Given the description of an element on the screen output the (x, y) to click on. 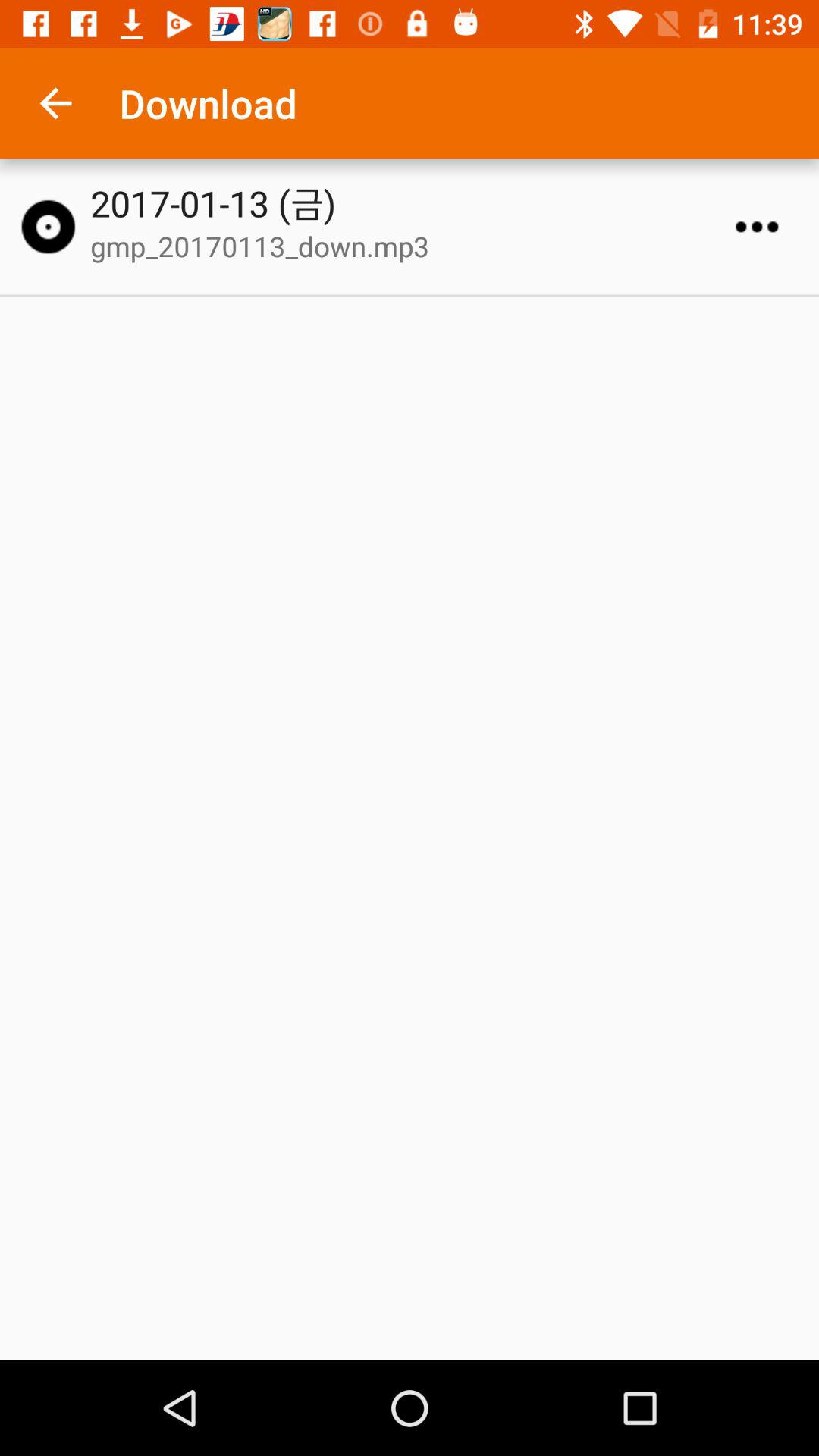
turn off the item to the left of download (55, 103)
